Given the description of an element on the screen output the (x, y) to click on. 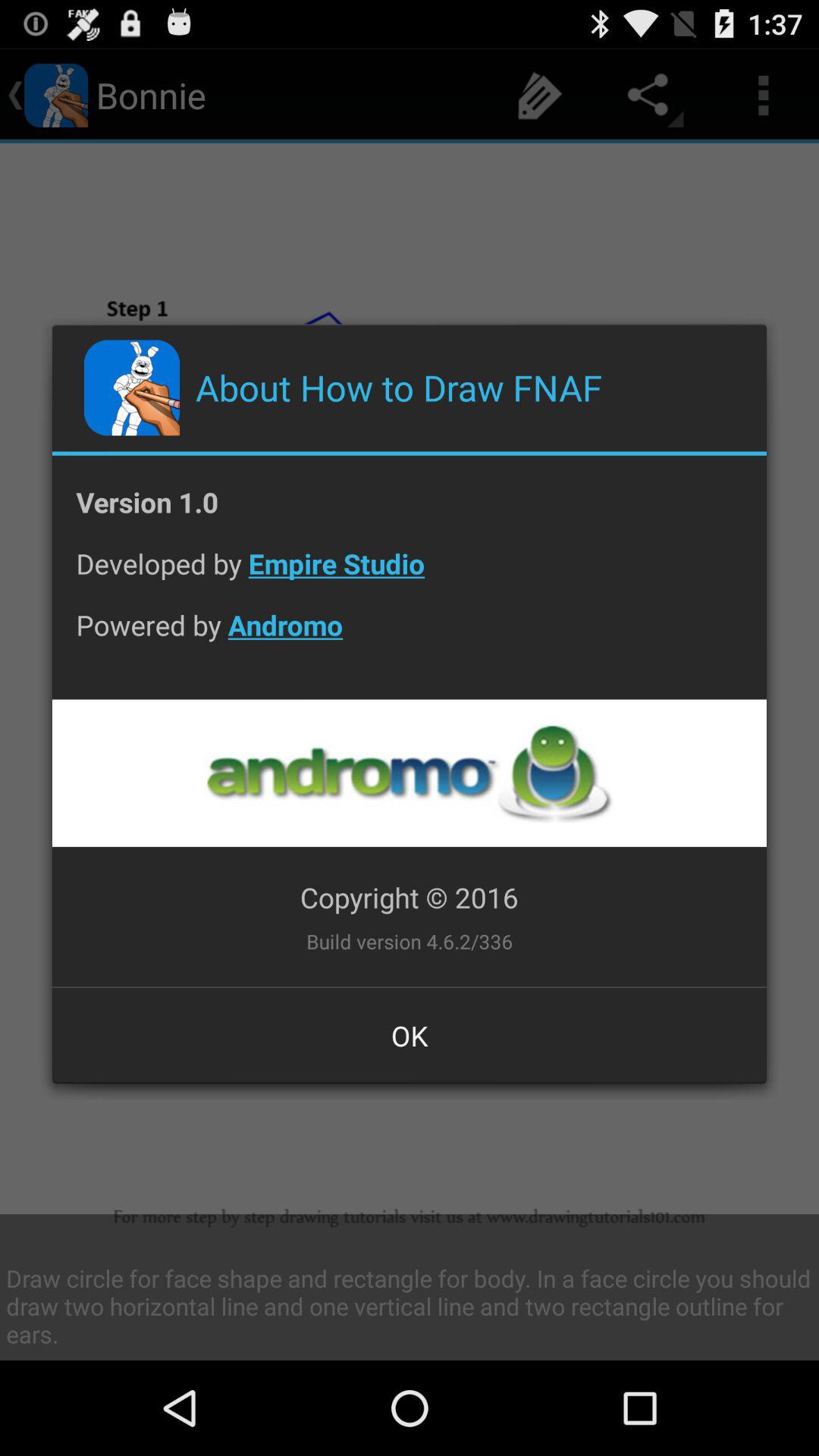
open ok button (409, 1035)
